Given the description of an element on the screen output the (x, y) to click on. 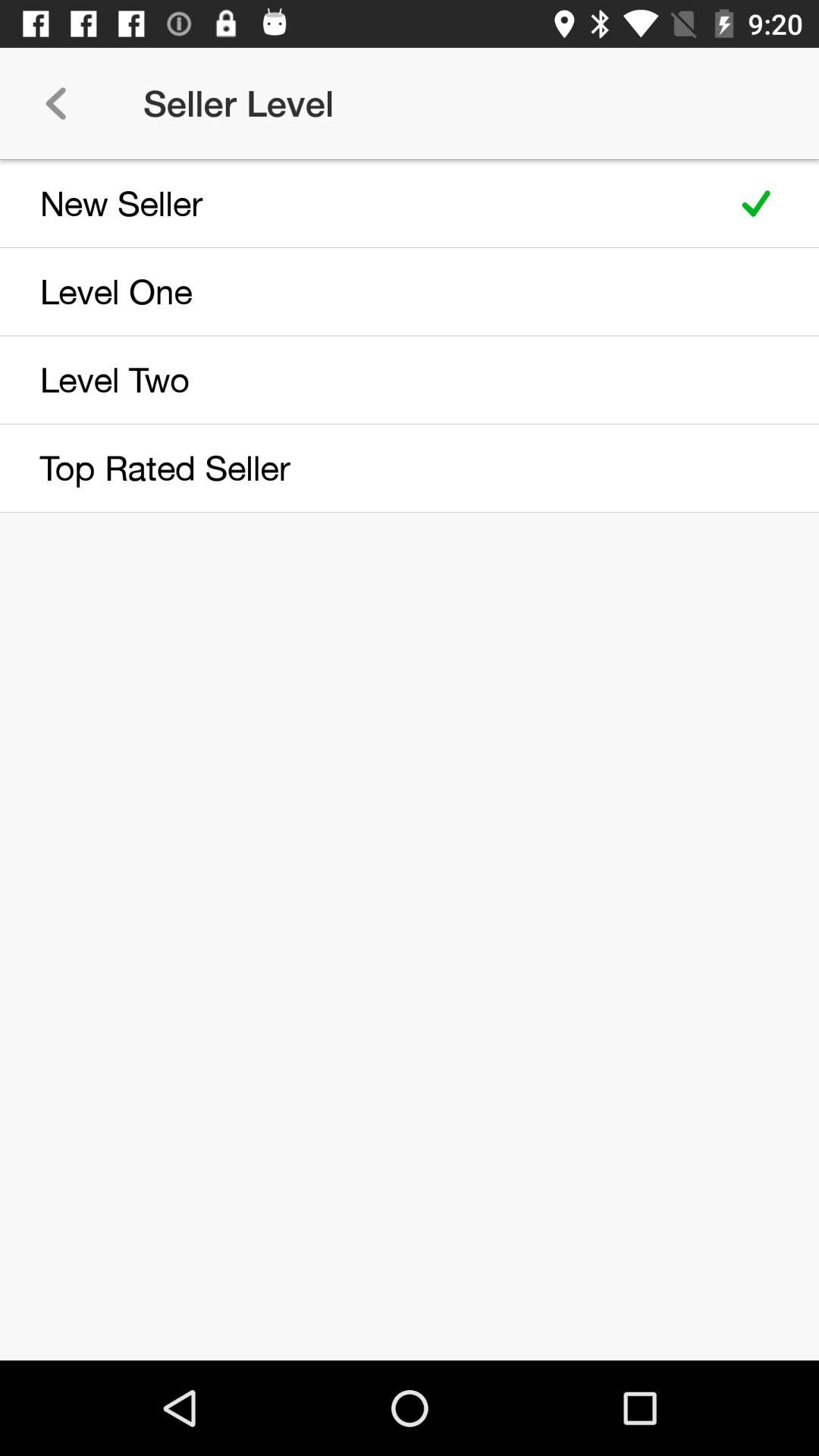
press item at the top right corner (756, 203)
